Given the description of an element on the screen output the (x, y) to click on. 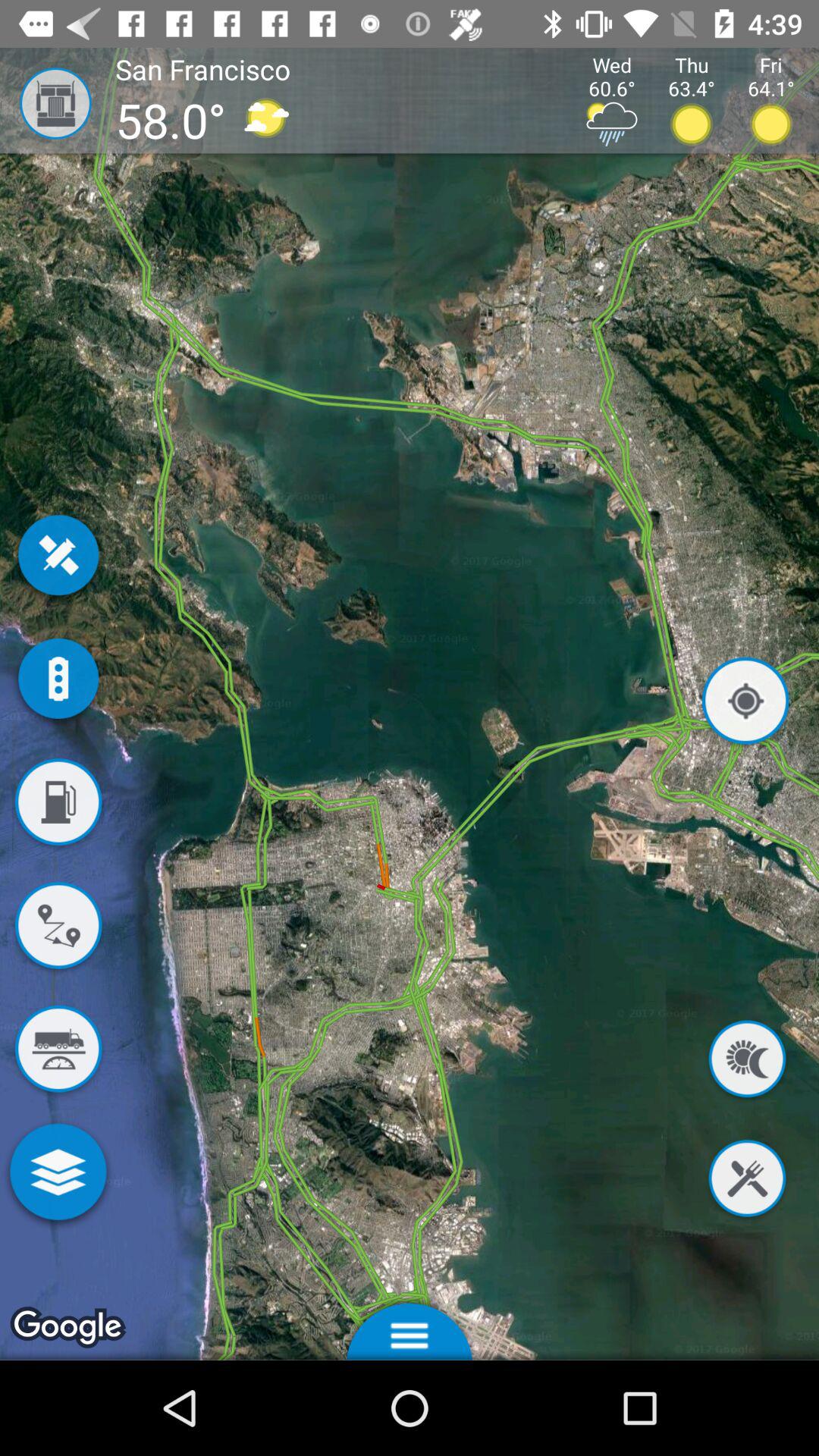
more map features (57, 1175)
